Given the description of an element on the screen output the (x, y) to click on. 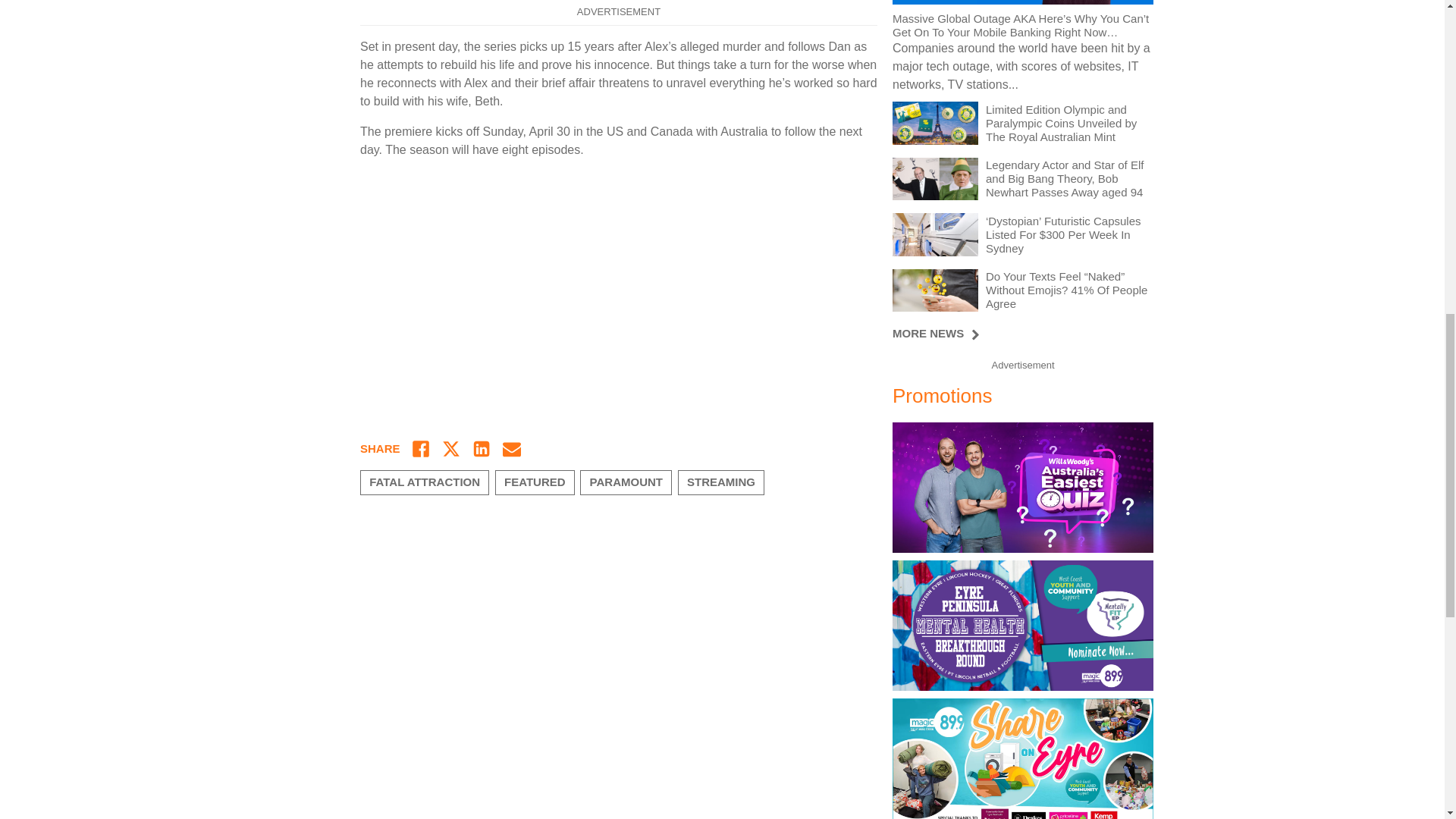
YouTube video player (618, 290)
